Given the description of an element on the screen output the (x, y) to click on. 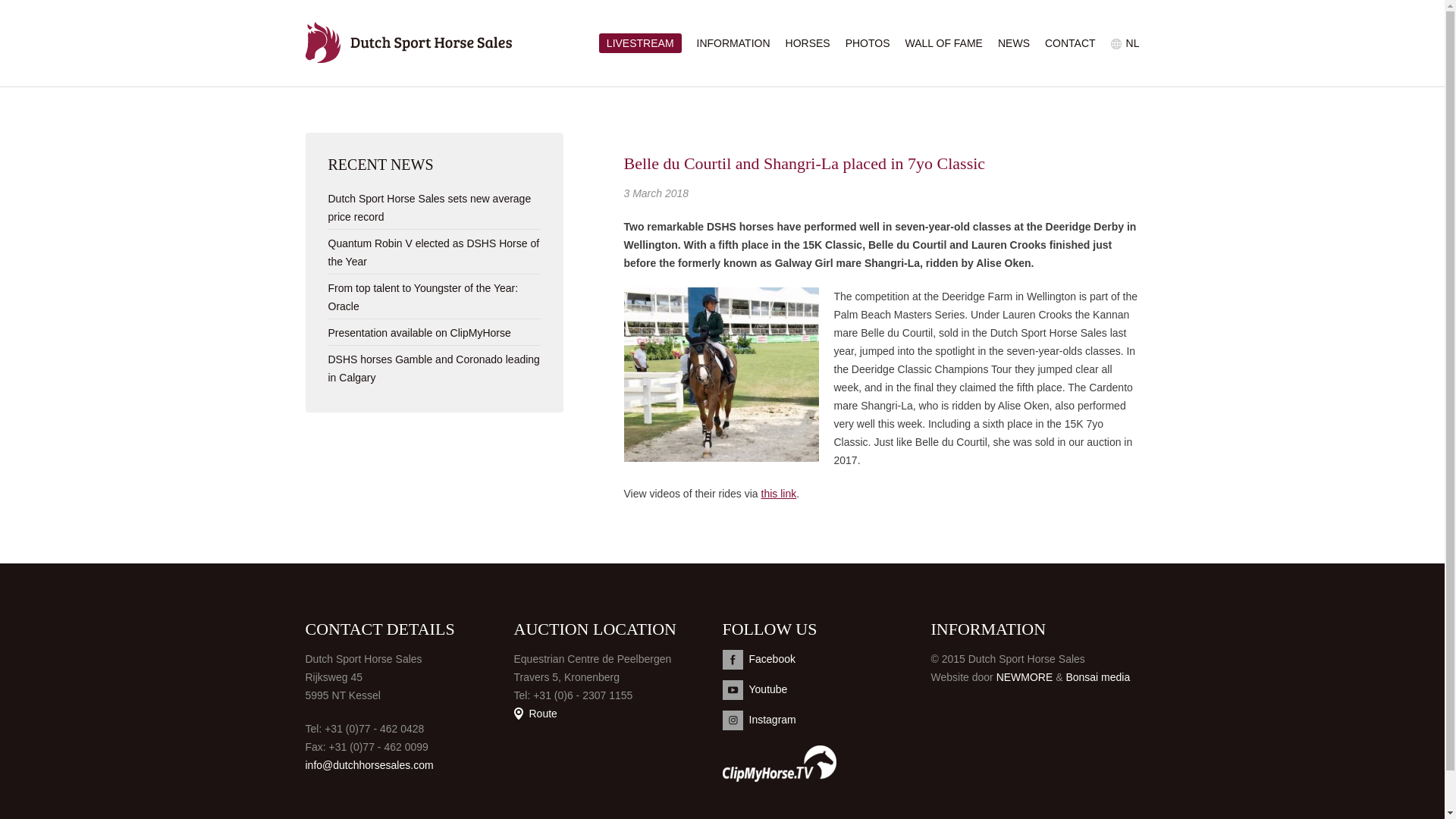
NEWMORE (1023, 676)
NEWS (1013, 42)
From top talent to Youngster of the Year: Oracle (422, 296)
HORSES (807, 42)
PHOTOS (867, 42)
INFORMATION (733, 42)
this link (778, 493)
WALL OF FAME (943, 42)
Presentation available on ClipMyHorse (419, 332)
Quantum Robin V elected as DSHS Horse of the Year (432, 252)
Bonsai media (1097, 676)
Instagram (826, 720)
LIVESTREAM (639, 43)
Dutch Sport Horse Sales sets new average price record (429, 207)
Youtube (826, 690)
